Given the description of an element on the screen output the (x, y) to click on. 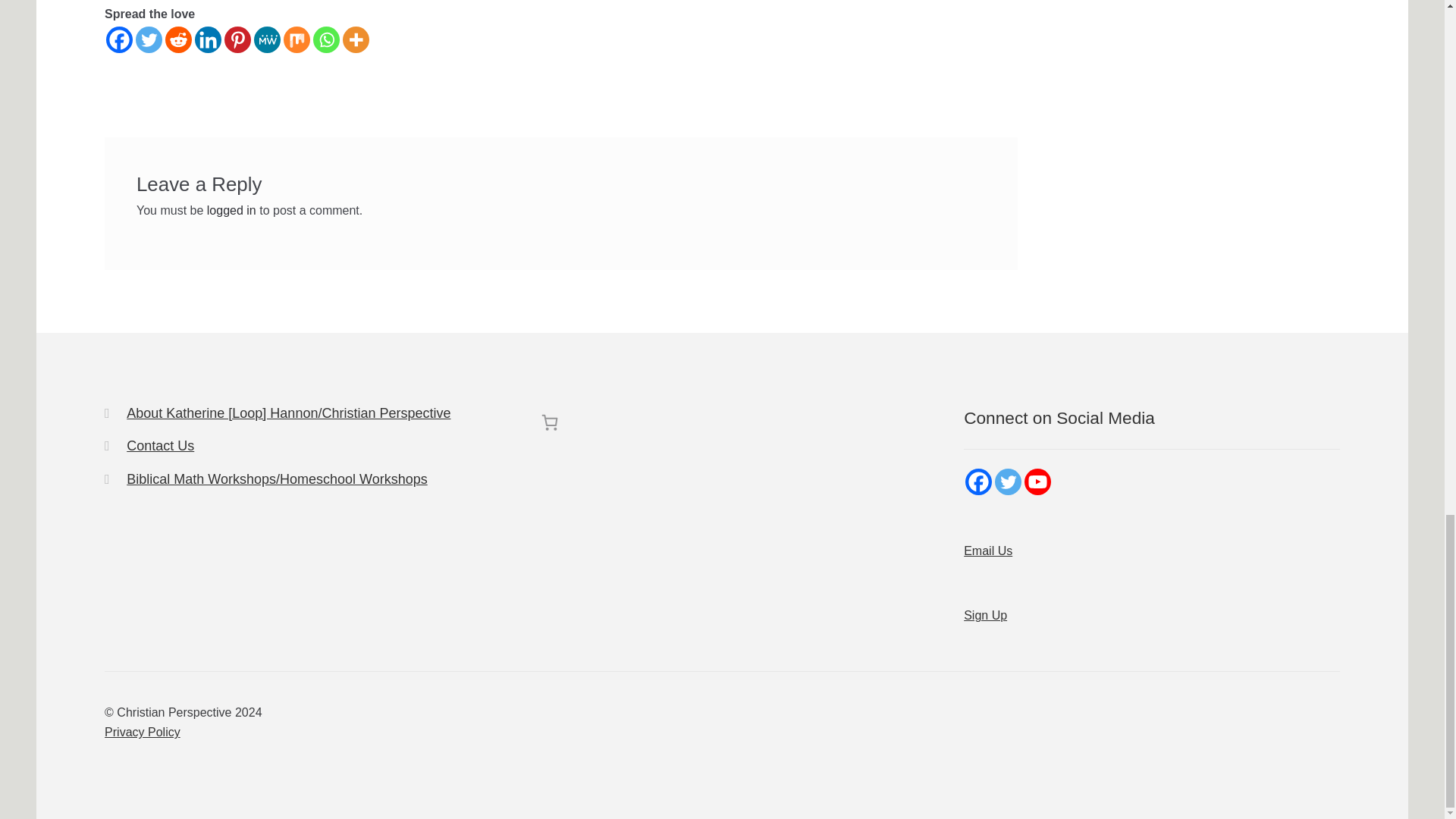
Twitter (1008, 481)
More (355, 39)
Facebook (978, 481)
Whatsapp (326, 39)
Facebook (119, 39)
Pinterest (237, 39)
Reddit (178, 39)
Linkedin (208, 39)
Twitter (148, 39)
Youtube (1038, 481)
